Given the description of an element on the screen output the (x, y) to click on. 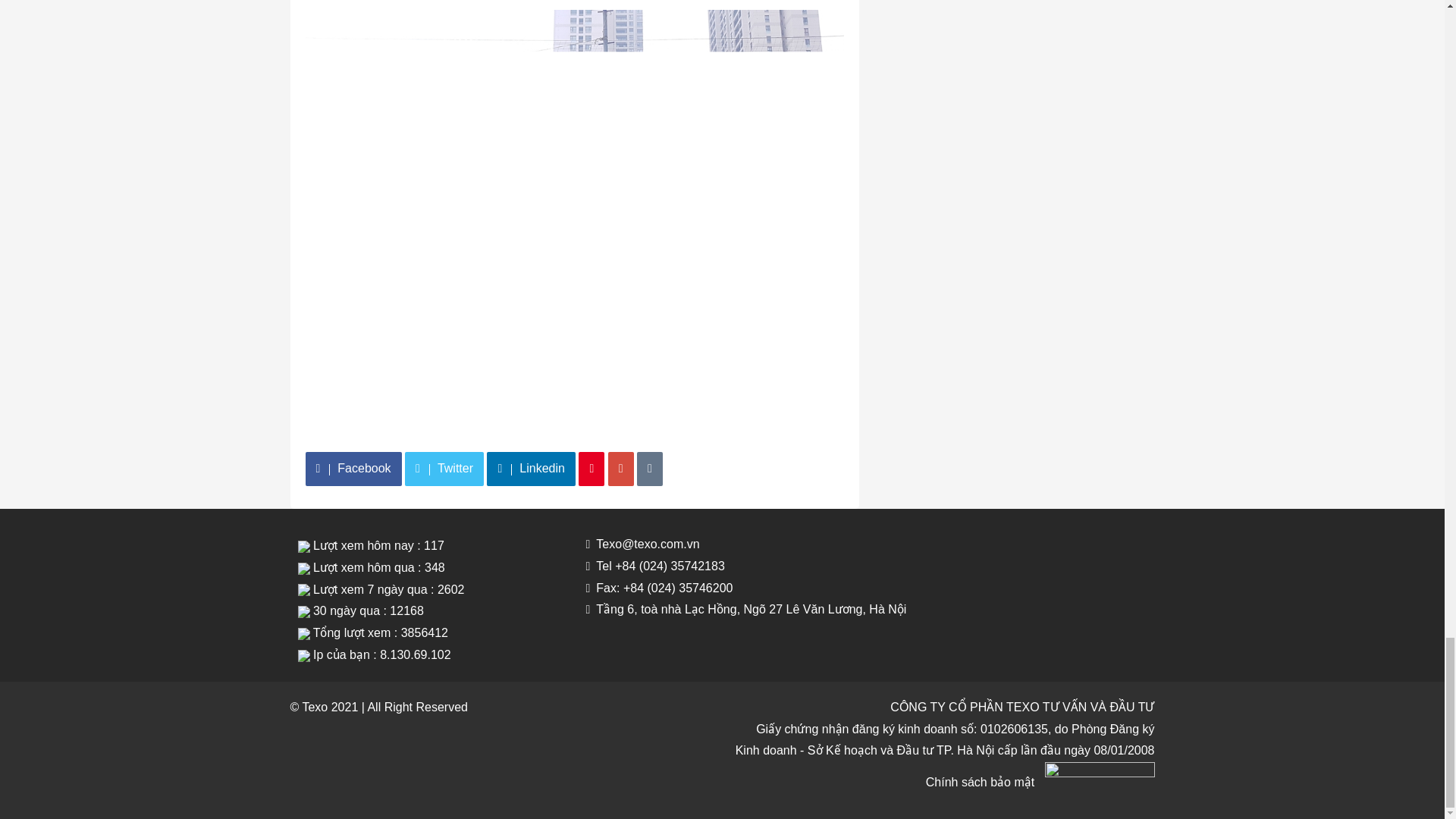
Facebook (352, 469)
Twitter (443, 469)
Linkedin (530, 469)
